Given the description of an element on the screen output the (x, y) to click on. 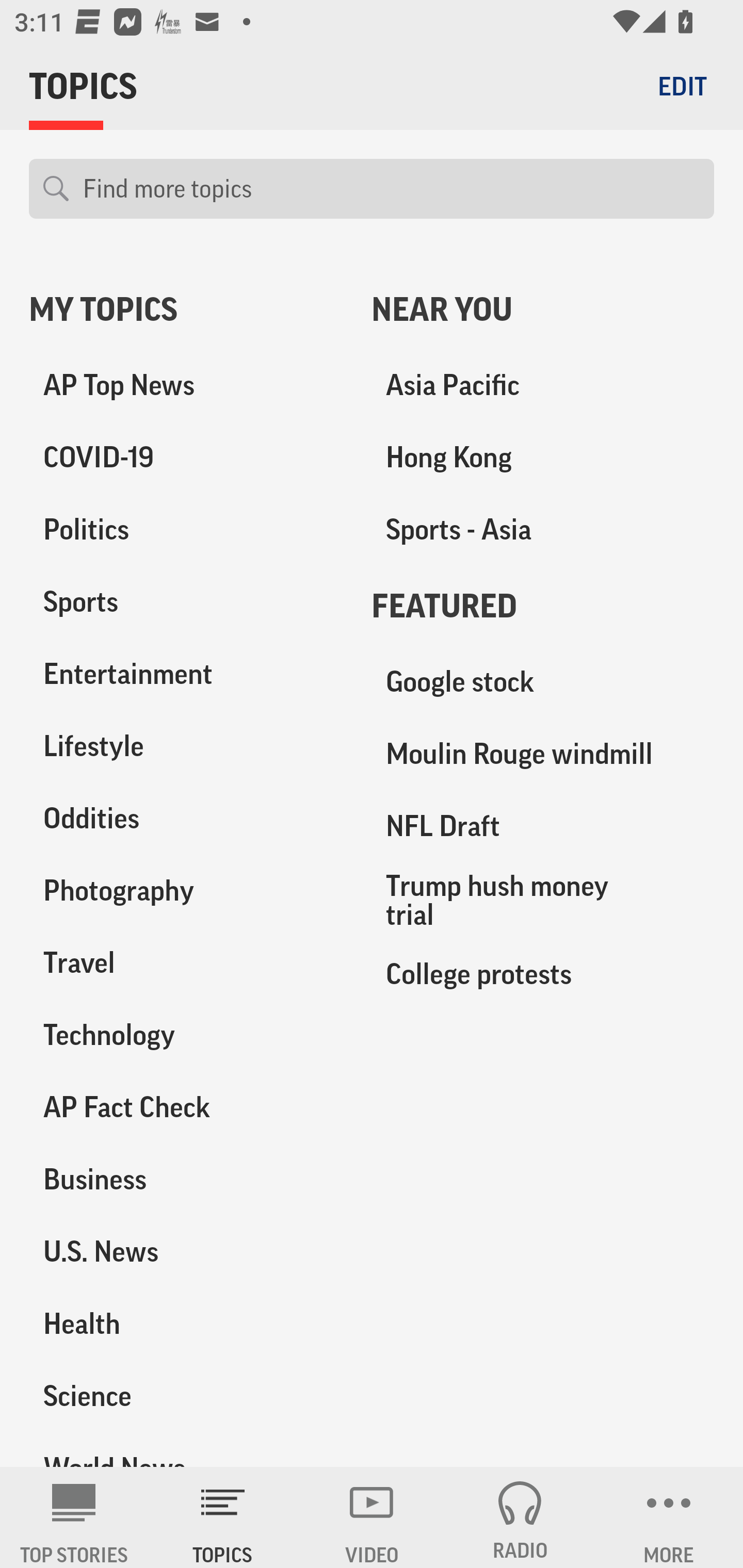
EDIT (682, 86)
Find more topics (391, 188)
AP Top News (185, 385)
Asia Pacific (542, 385)
COVID-19 (185, 457)
Hong Kong (542, 457)
Politics (185, 529)
Sports - Asia (542, 529)
Sports (185, 602)
Entertainment (185, 674)
Google stock (542, 682)
Lifestyle (185, 746)
Moulin Rouge windmill (542, 754)
Oddities (185, 818)
NFL Draft (542, 826)
Photography (185, 890)
Trump hush money trial (542, 899)
Travel (185, 962)
College protests (542, 973)
Technology (185, 1034)
AP Fact Check (185, 1106)
Business (185, 1179)
U.S. News (185, 1251)
Health (185, 1323)
Science (185, 1395)
AP News TOP STORIES (74, 1517)
TOPICS (222, 1517)
VIDEO (371, 1517)
RADIO (519, 1517)
MORE (668, 1517)
